Given the description of an element on the screen output the (x, y) to click on. 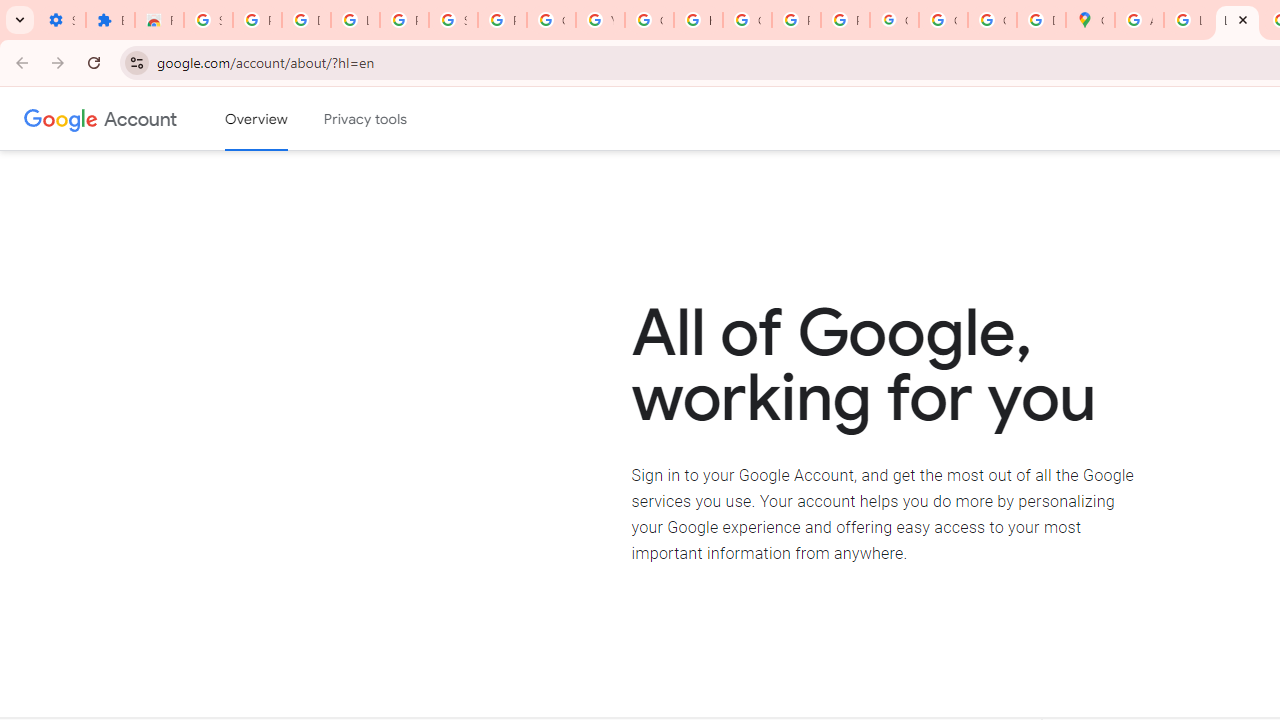
Google Account (551, 20)
Google logo (61, 118)
